Given the description of an element on the screen output the (x, y) to click on. 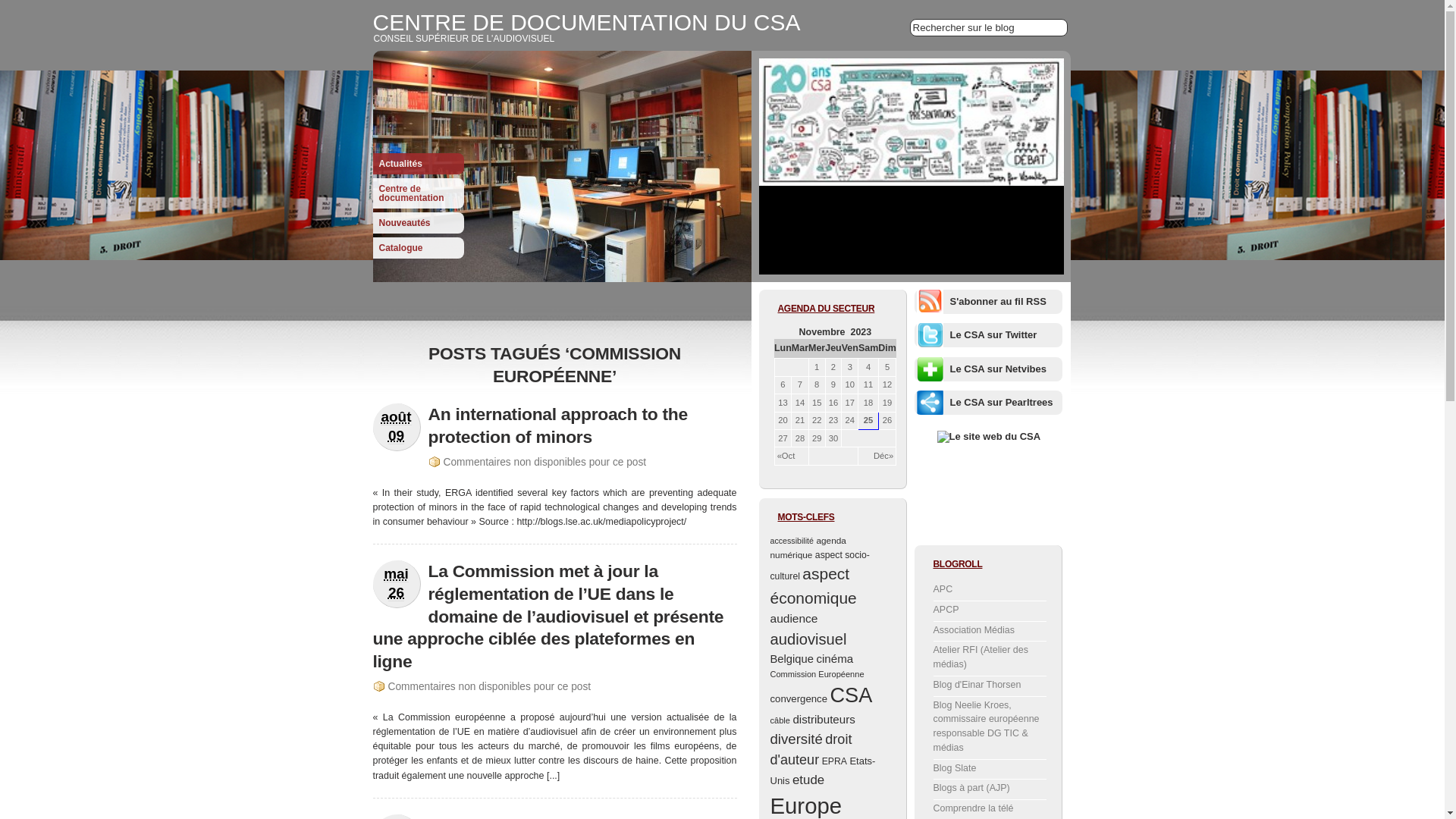
Catalogue Element type: text (418, 247)
S'abonner au fil RSS Element type: text (997, 301)
APCP Element type: text (945, 609)
convergence Element type: text (799, 698)
aspect socio-culturel Element type: text (819, 565)
Blog Slate Element type: text (953, 767)
CSA Element type: text (850, 694)
Europe Element type: text (806, 805)
An international approach to the protection of minors Element type: text (557, 425)
CENTRE DE DOCUMENTATION DU CSA Element type: text (586, 21)
droit d'auteur Element type: text (811, 749)
Le CSA sur Netvibes Element type: text (997, 368)
audiovisuel Element type: text (808, 638)
Le CSA sur Pearltrees Element type: text (1000, 401)
Belgique Element type: text (791, 658)
Etats-Unis Element type: text (822, 770)
distributeurs Element type: text (823, 718)
EPRA Element type: text (834, 761)
audience Element type: text (794, 617)
Blog d'Einar Thorsen Element type: text (976, 684)
Le CSA sur Twitter Element type: text (992, 334)
etude Element type: text (808, 779)
Le site web du CSA Element type: hover (989, 436)
Centre de documentation Element type: text (418, 193)
APC Element type: text (942, 588)
